Given the description of an element on the screen output the (x, y) to click on. 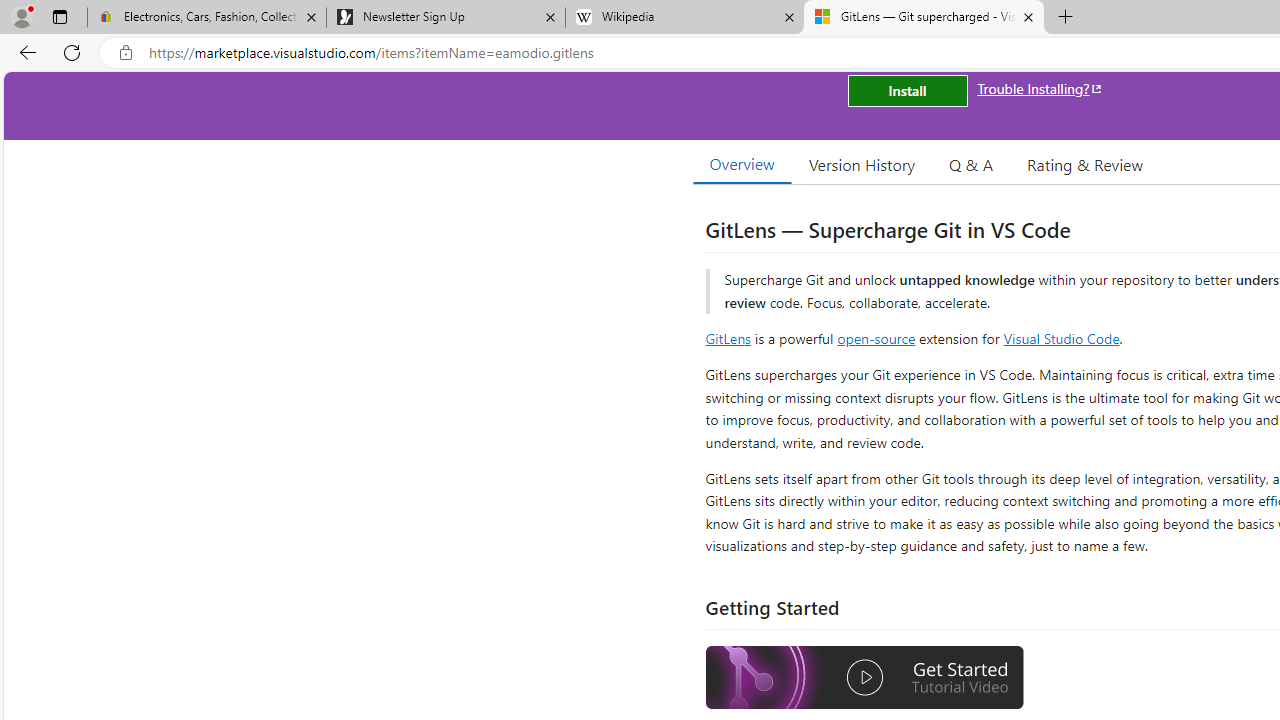
Watch the GitLens Getting Started video (865, 678)
GitLens (728, 337)
Q & A (971, 164)
Visual Studio Code (1061, 337)
open-source (876, 337)
Newsletter Sign Up (445, 17)
Watch the GitLens Getting Started video (865, 679)
